Given the description of an element on the screen output the (x, y) to click on. 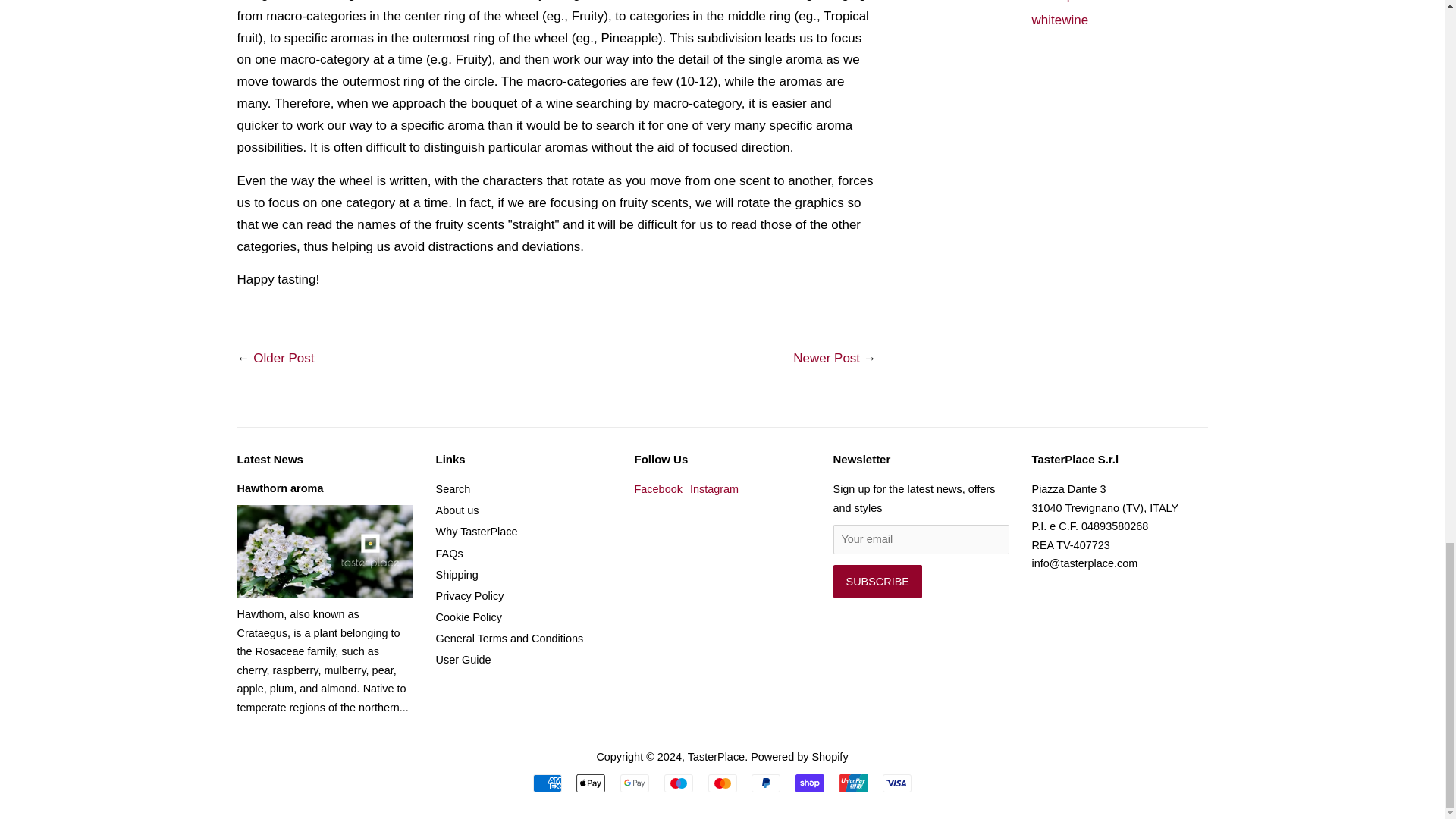
Show articles tagged whitewine (1058, 20)
Google Pay (634, 782)
Mastercard (721, 782)
TasterPlace on Instagram (714, 489)
Show articles tagged Tasterplace (1063, 1)
Visa (896, 782)
PayPal (765, 782)
American Express (547, 782)
Union Pay (853, 782)
Shop Pay (809, 782)
